Given the description of an element on the screen output the (x, y) to click on. 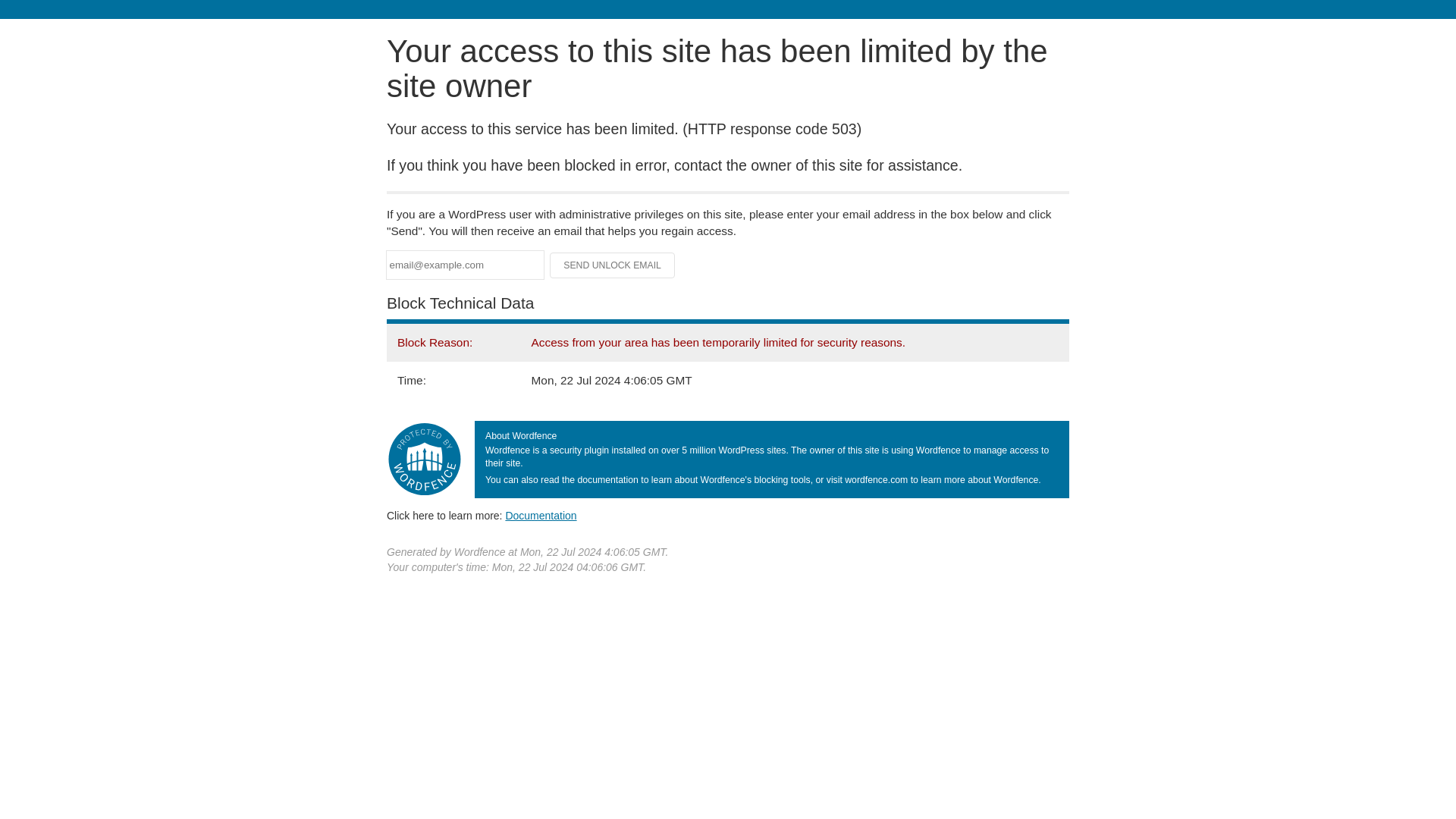
Documentation (540, 515)
Send Unlock Email (612, 265)
Send Unlock Email (612, 265)
